Given the description of an element on the screen output the (x, y) to click on. 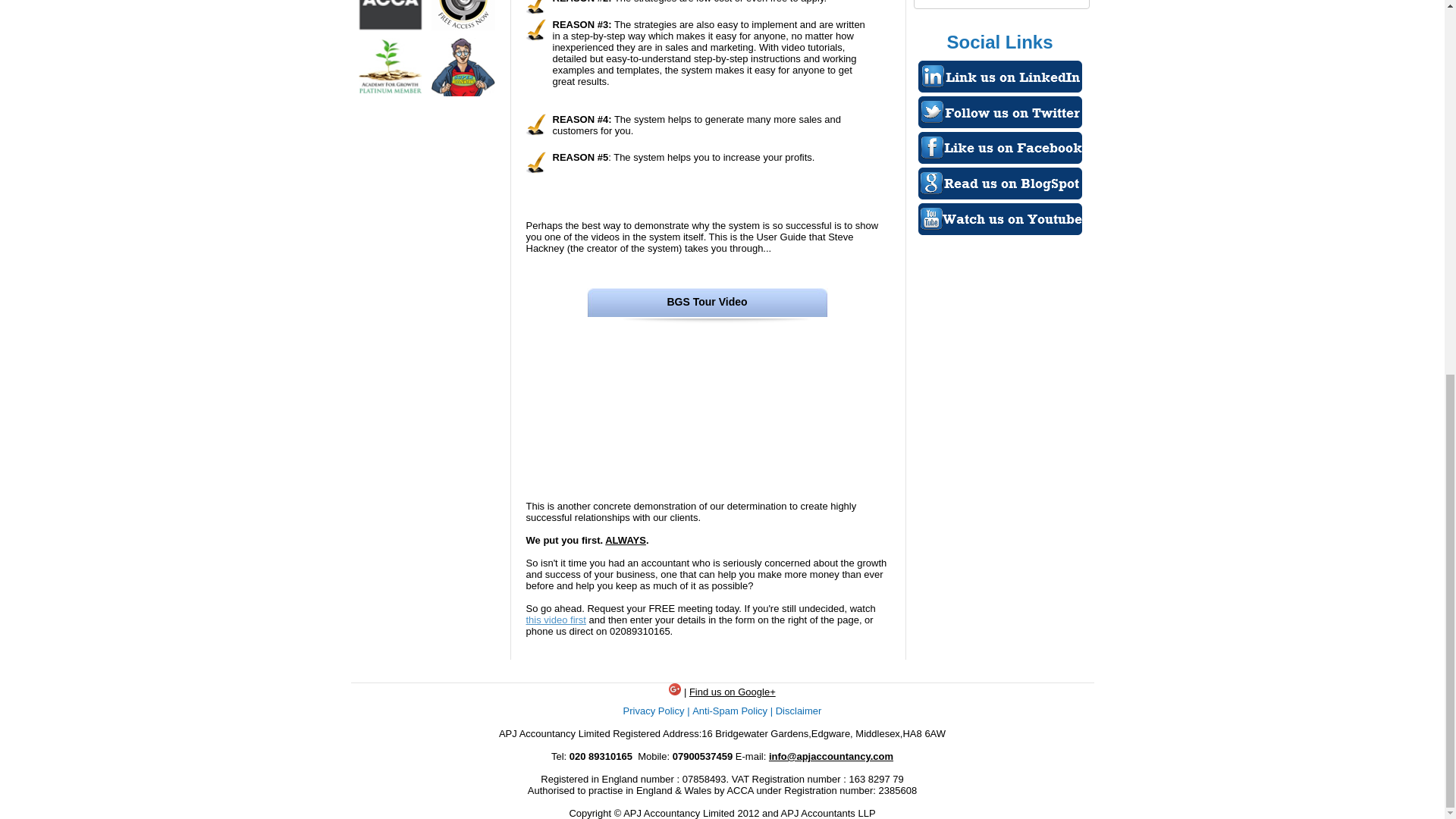
this video first (555, 619)
